Given the description of an element on the screen output the (x, y) to click on. 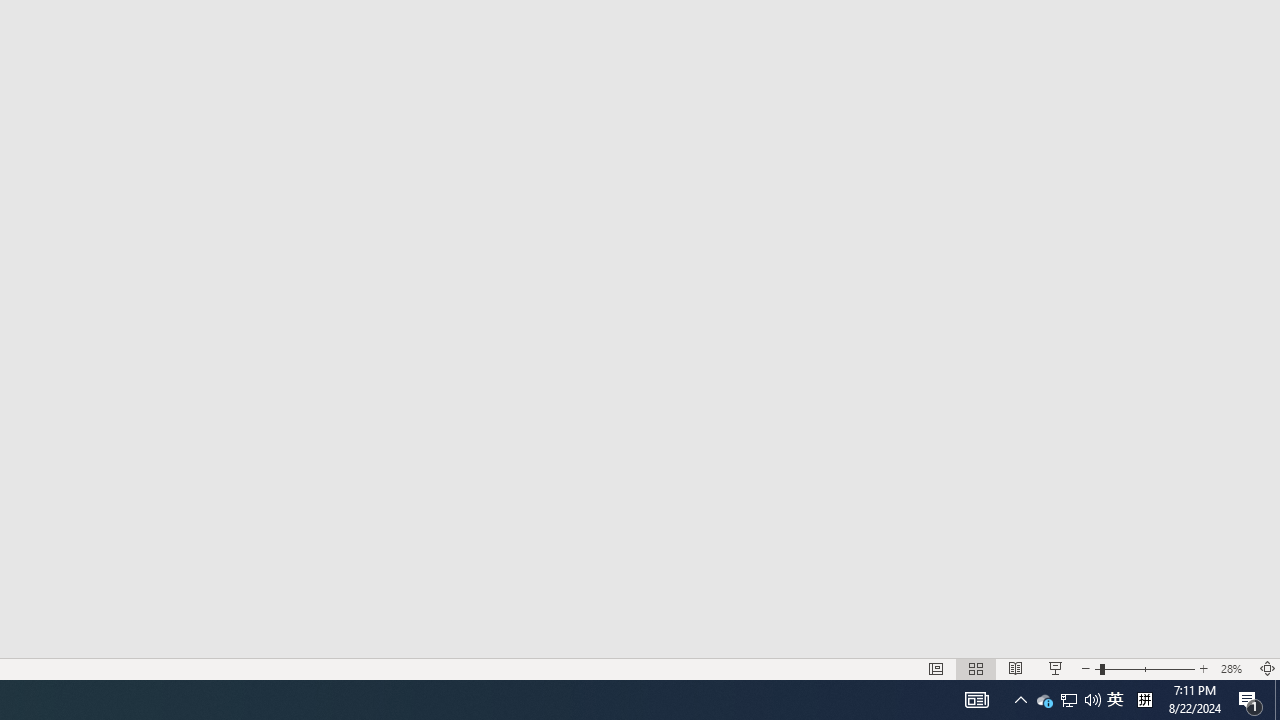
Zoom 28% (1234, 668)
